Given the description of an element on the screen output the (x, y) to click on. 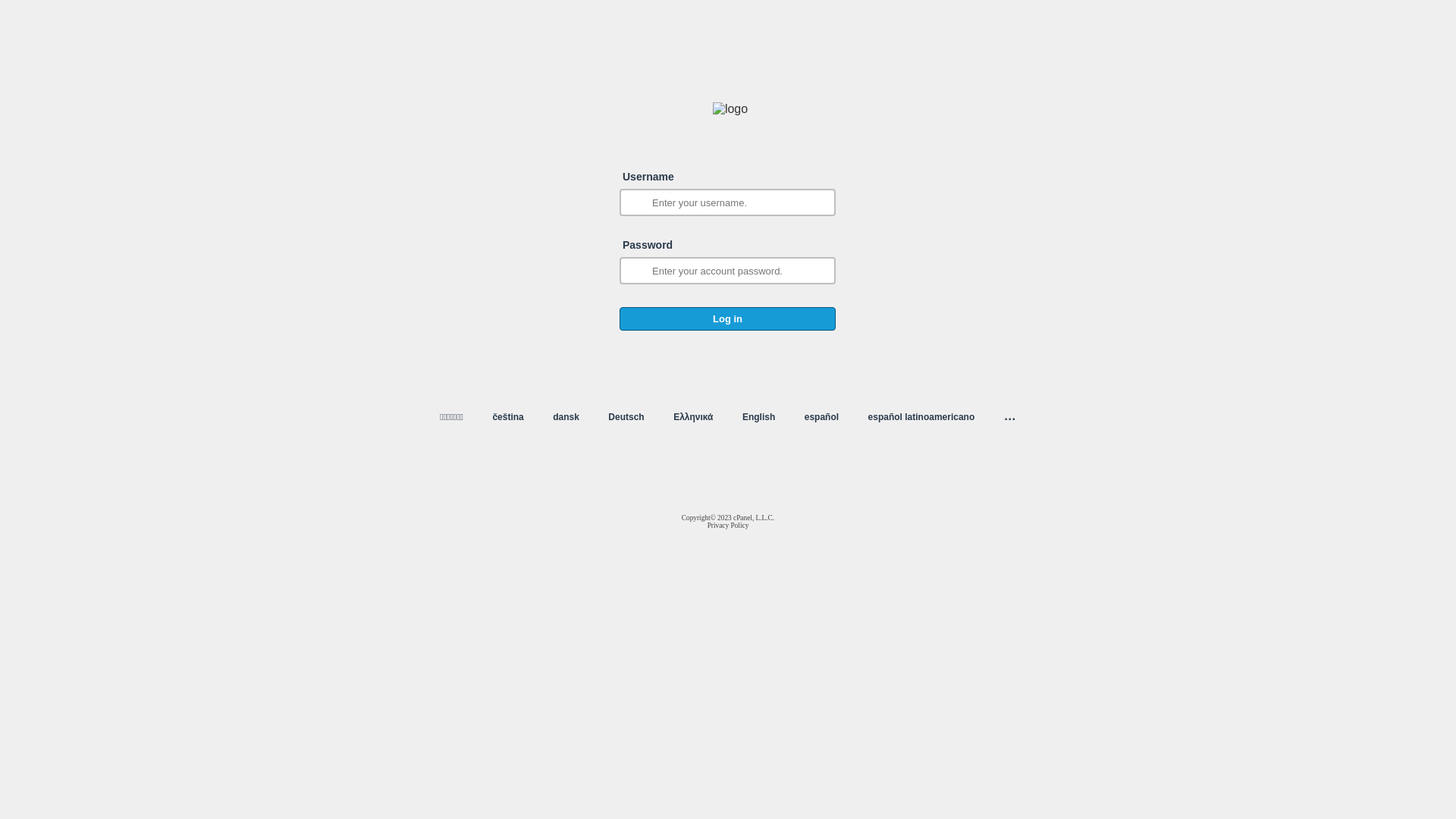
Privacy Policy Element type: text (728, 525)
dansk Element type: text (565, 416)
Log in Element type: text (727, 318)
Deutsch Element type: text (625, 416)
English Element type: text (758, 416)
